Given the description of an element on the screen output the (x, y) to click on. 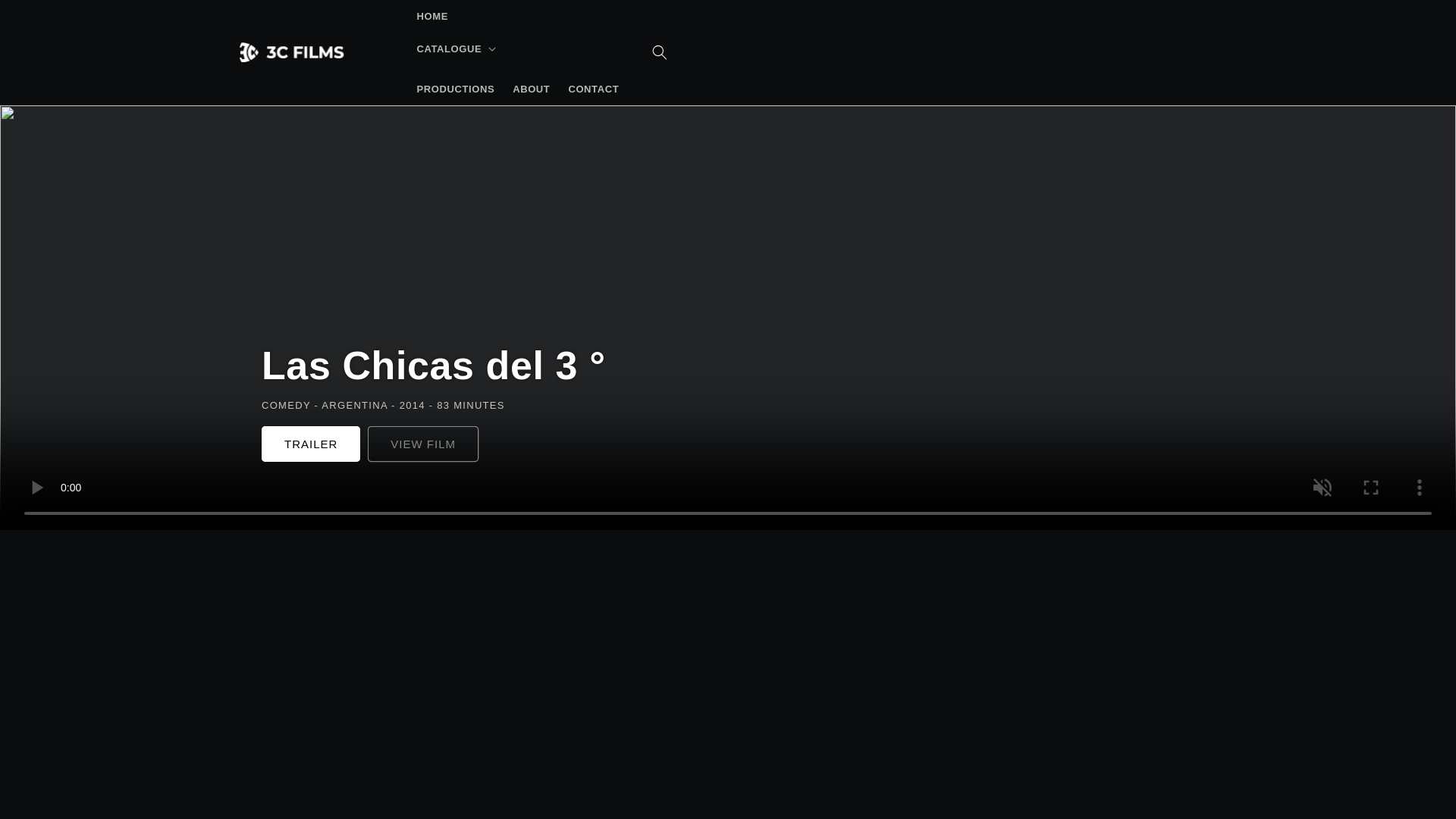
CONTACT (593, 88)
ABOUT (531, 88)
HOME (432, 16)
Skip to content (45, 17)
PRODUCTIONS (455, 88)
